Given the description of an element on the screen output the (x, y) to click on. 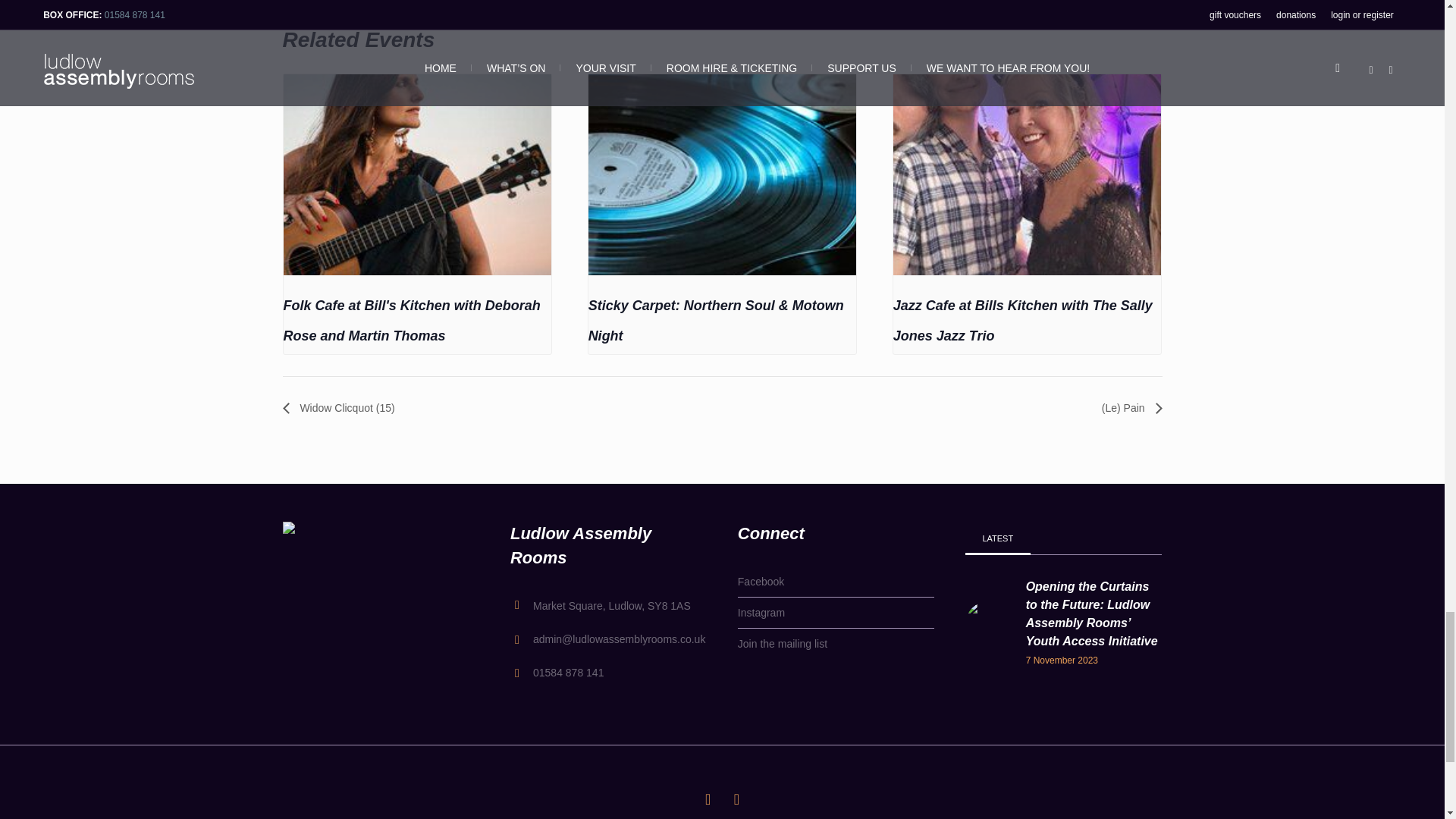
LAR Instagram (735, 799)
7 November 2023 (1093, 660)
LAR Facebook (707, 799)
